Given the description of an element on the screen output the (x, y) to click on. 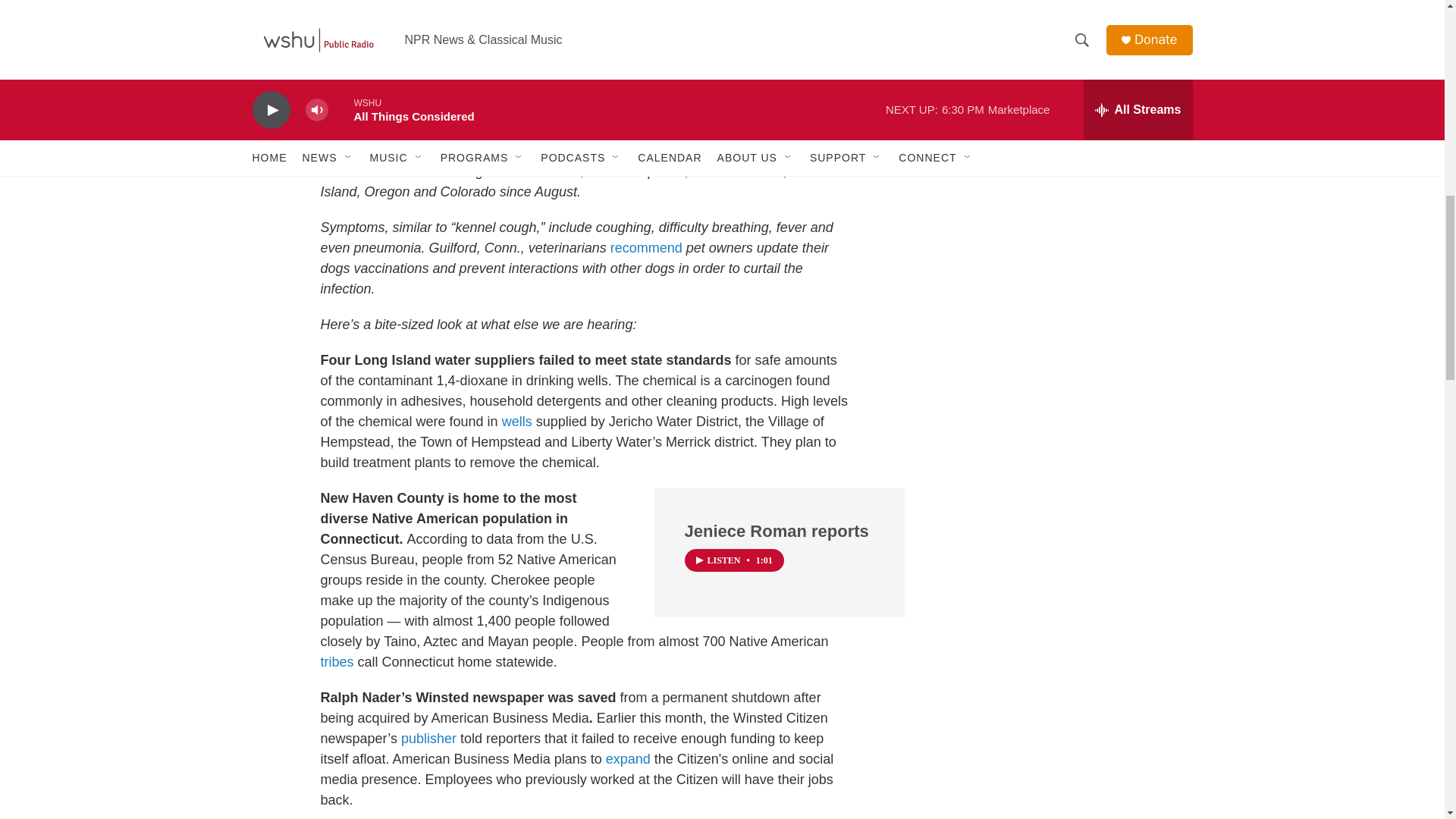
3rd party ad content (1062, 16)
